Given the description of an element on the screen output the (x, y) to click on. 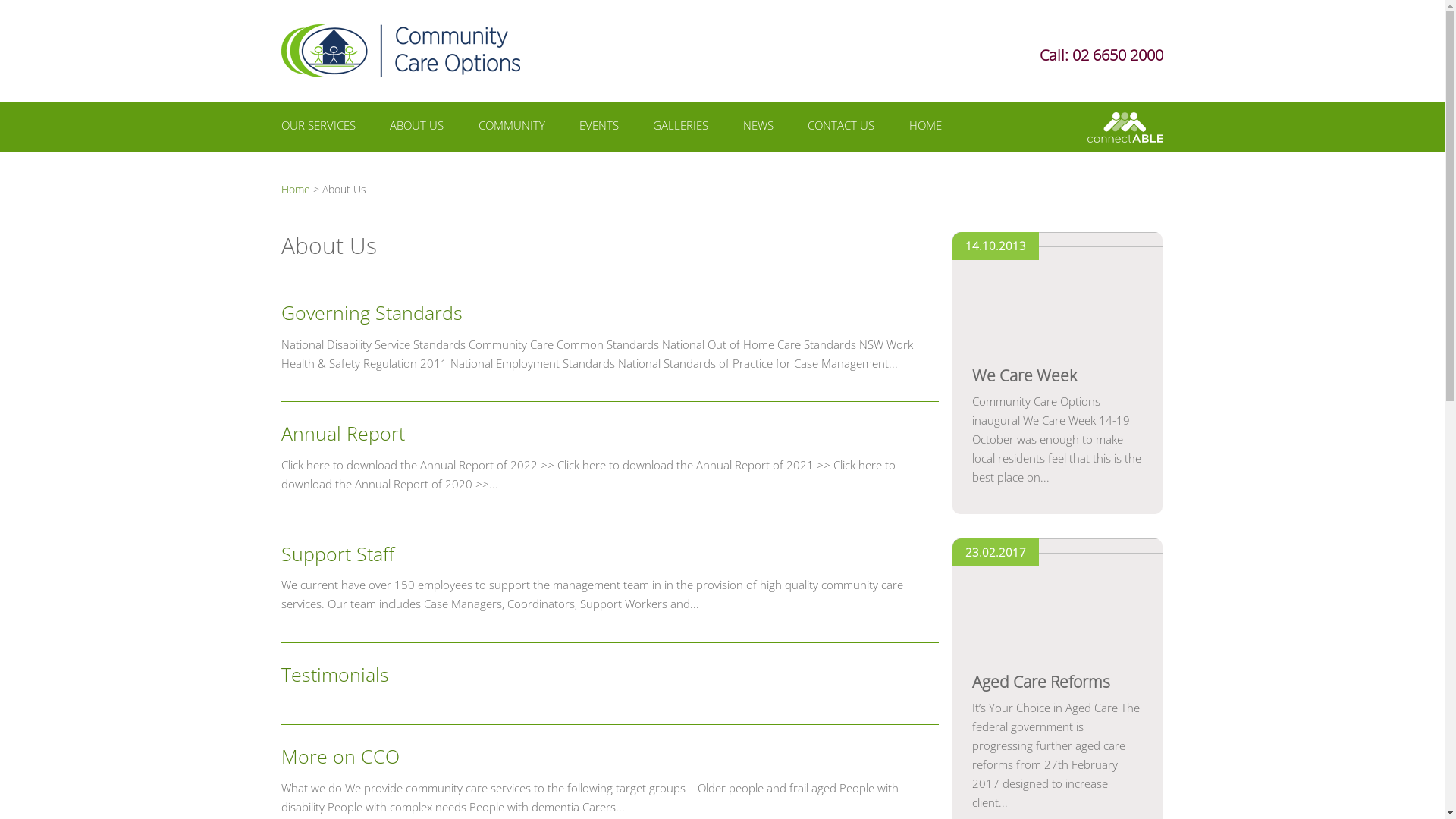
Testimonials Element type: text (335, 674)
EVENTS Element type: text (598, 128)
ABOUT US Element type: text (416, 128)
CONTACT US Element type: text (840, 128)
OUR SERVICES Element type: text (318, 128)
connectABLE Project Element type: hover (1125, 127)
HOME Element type: text (925, 128)
More on CCO Element type: text (340, 755)
Support Staff Element type: text (337, 553)
COMMUNITY Element type: text (511, 128)
NEWS Element type: text (758, 128)
Annual Report Element type: text (342, 432)
GALLERIES Element type: text (680, 128)
Governing Standards Element type: text (371, 312)
Home Element type: text (295, 189)
